Given the description of an element on the screen output the (x, y) to click on. 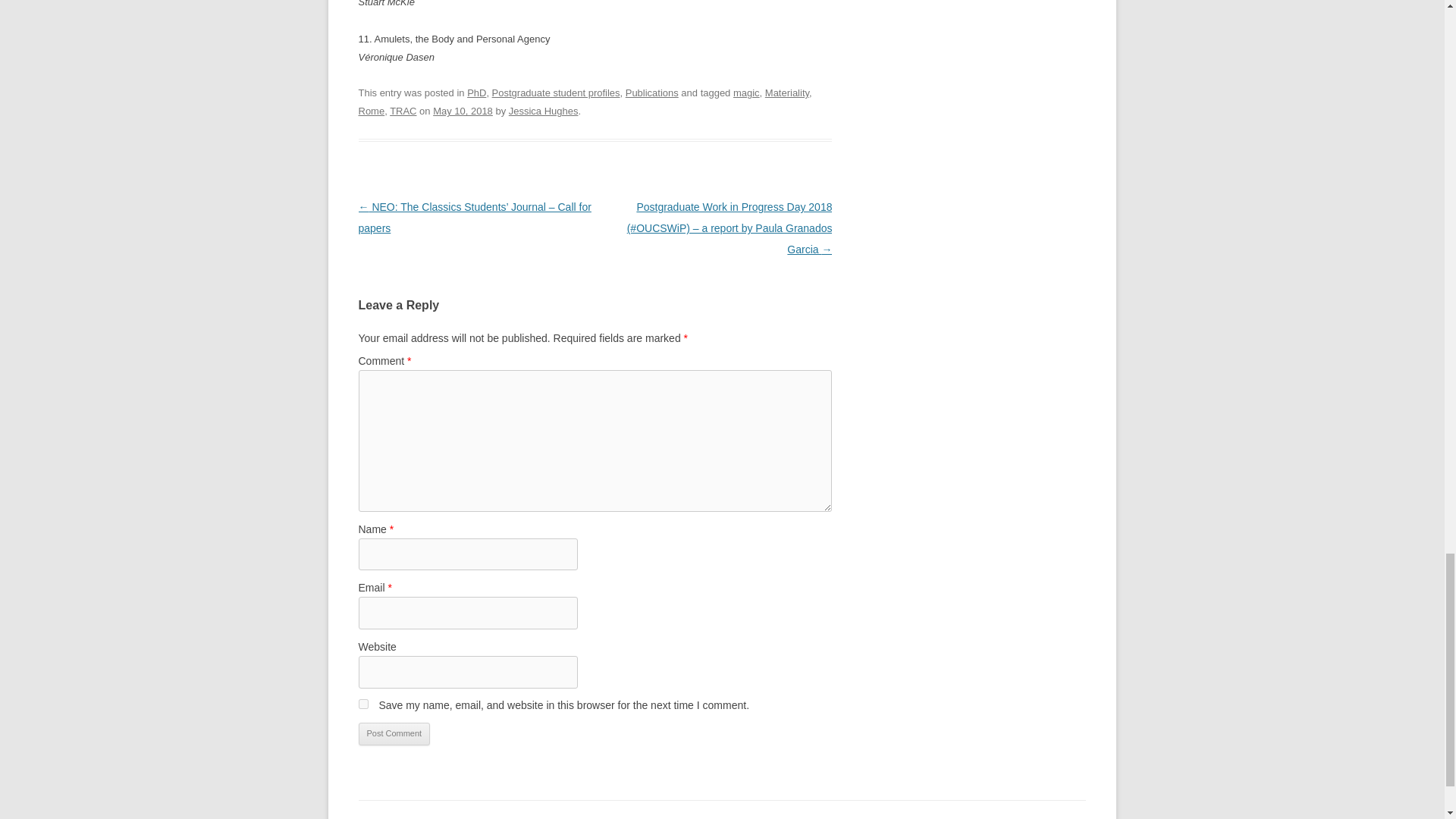
Postgraduate student profiles (556, 92)
Rome (371, 111)
May 10, 2018 (462, 111)
magic (746, 92)
yes (363, 704)
Post Comment (393, 733)
10:29 am (462, 111)
PhD (476, 92)
Post Comment (393, 733)
Jessica Hughes (543, 111)
